Given the description of an element on the screen output the (x, y) to click on. 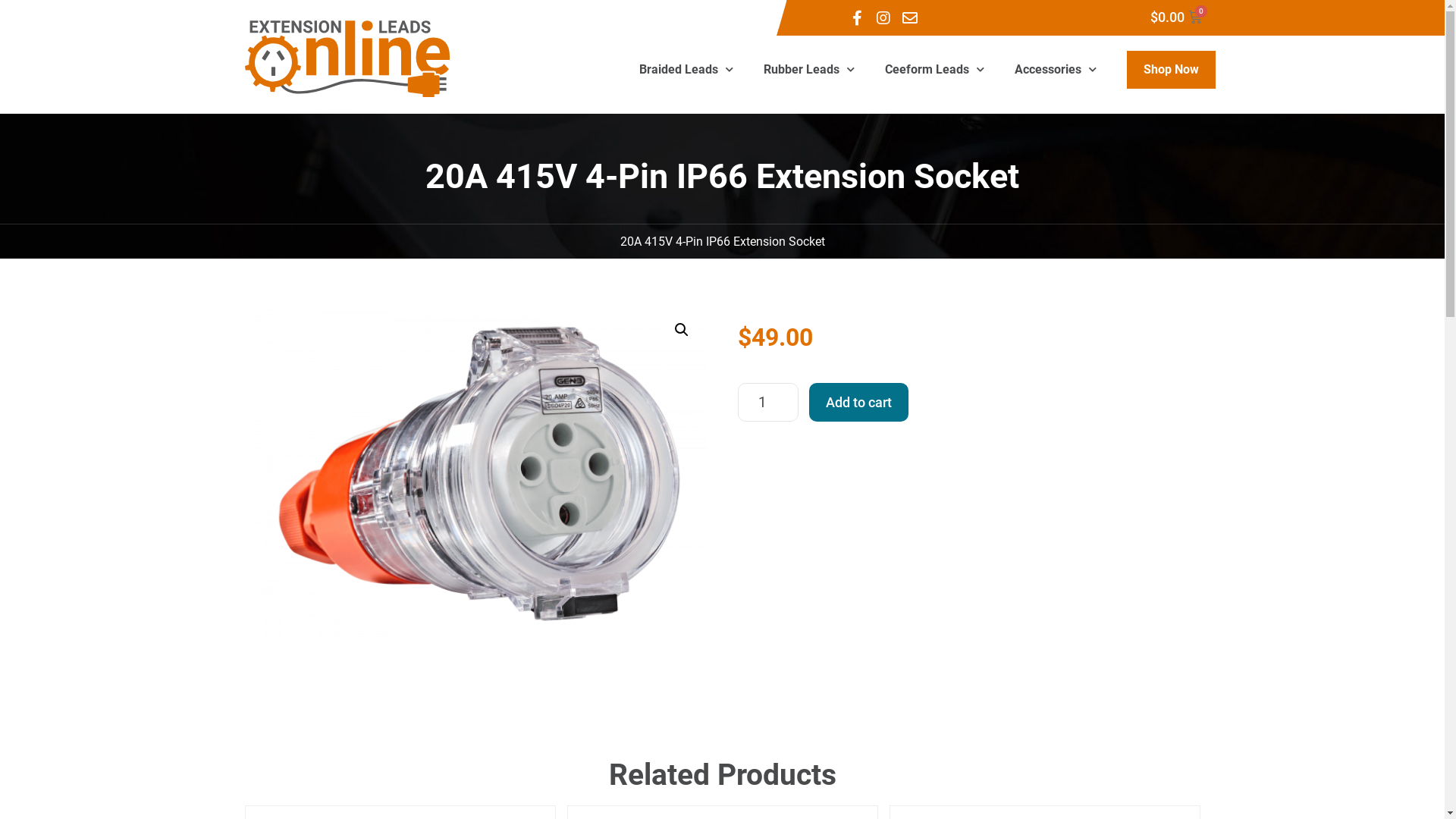
Add to cart Element type: text (857, 401)
SCO4P20 Element type: hover (475, 474)
Accessories Element type: text (1055, 69)
Braided Leads Element type: text (685, 69)
Rubber Leads Element type: text (807, 69)
$0.00
0 Element type: text (1175, 17)
Qty Element type: hover (767, 401)
Ceeform Leads Element type: text (933, 69)
Shop Now Element type: text (1170, 69)
